Given the description of an element on the screen output the (x, y) to click on. 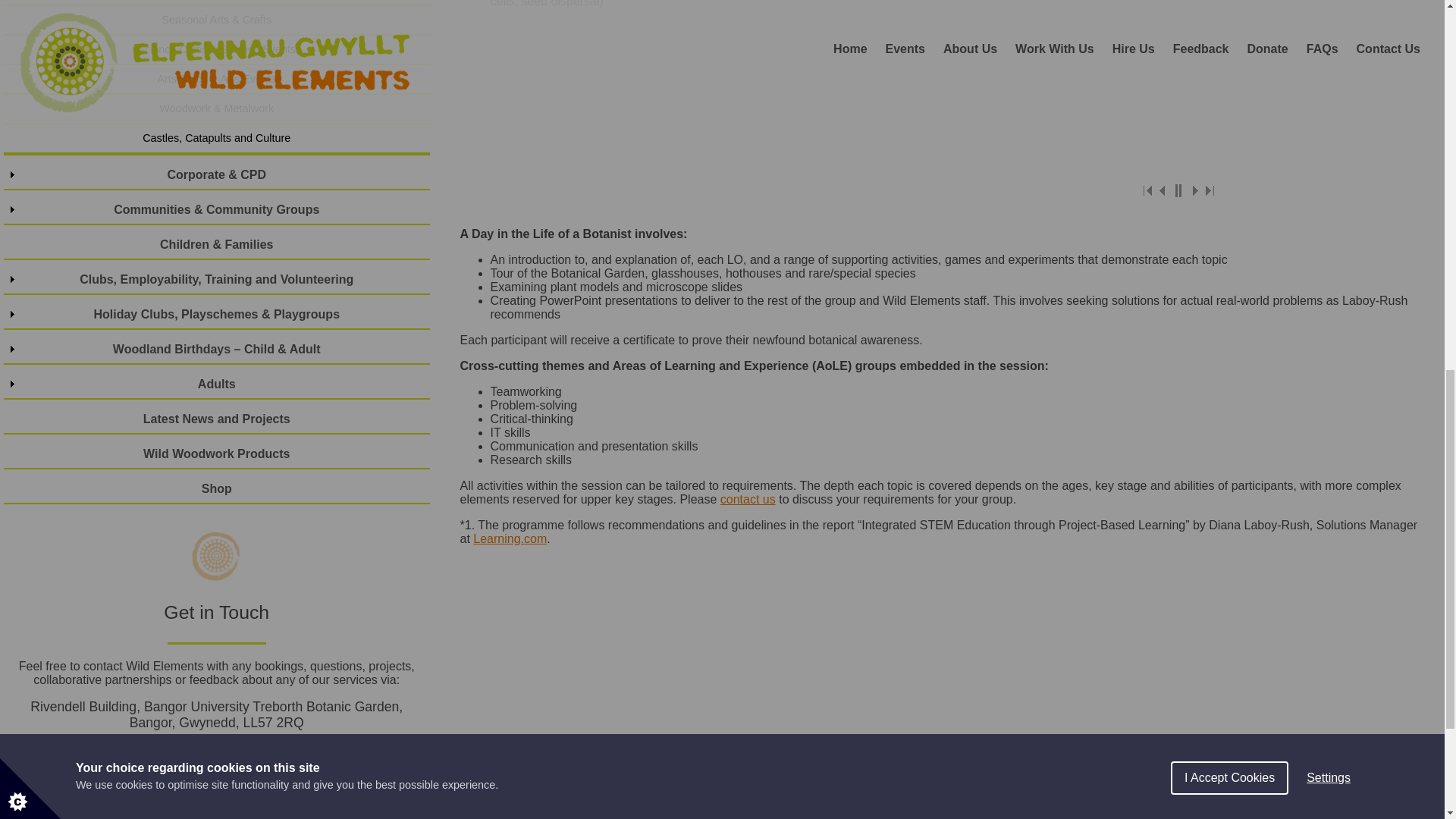
Settings (1328, 24)
I Accept Cookies (1229, 32)
First (1148, 190)
Pause (1178, 190)
Next (1193, 190)
Last (1208, 190)
Previous (1163, 190)
